Given the description of an element on the screen output the (x, y) to click on. 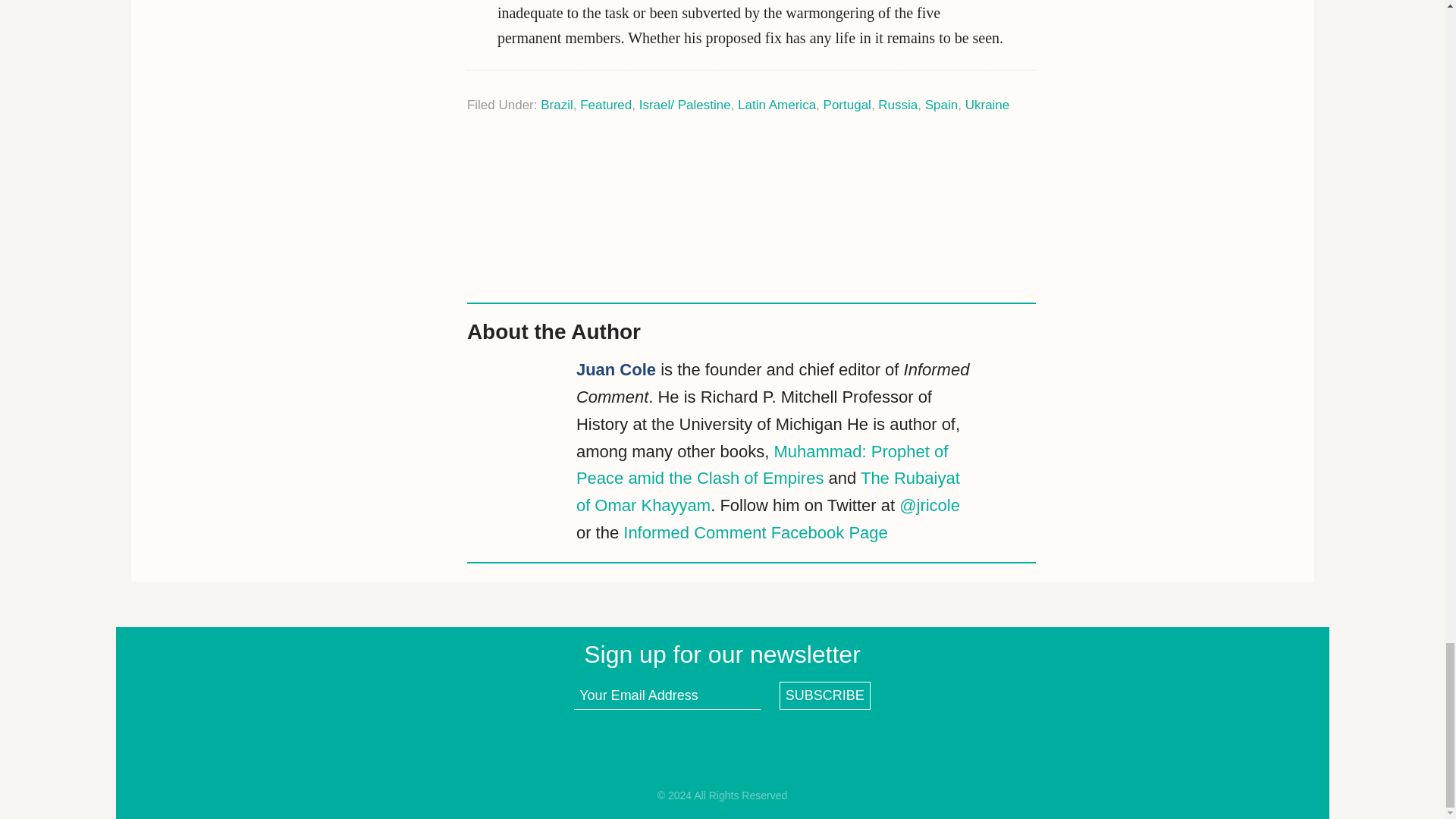
Latin America (776, 104)
subscribe (824, 695)
Spain (941, 104)
Brazil (556, 104)
Featured (605, 104)
Ukraine (987, 104)
Portugal (847, 104)
Russia (897, 104)
